Given the description of an element on the screen output the (x, y) to click on. 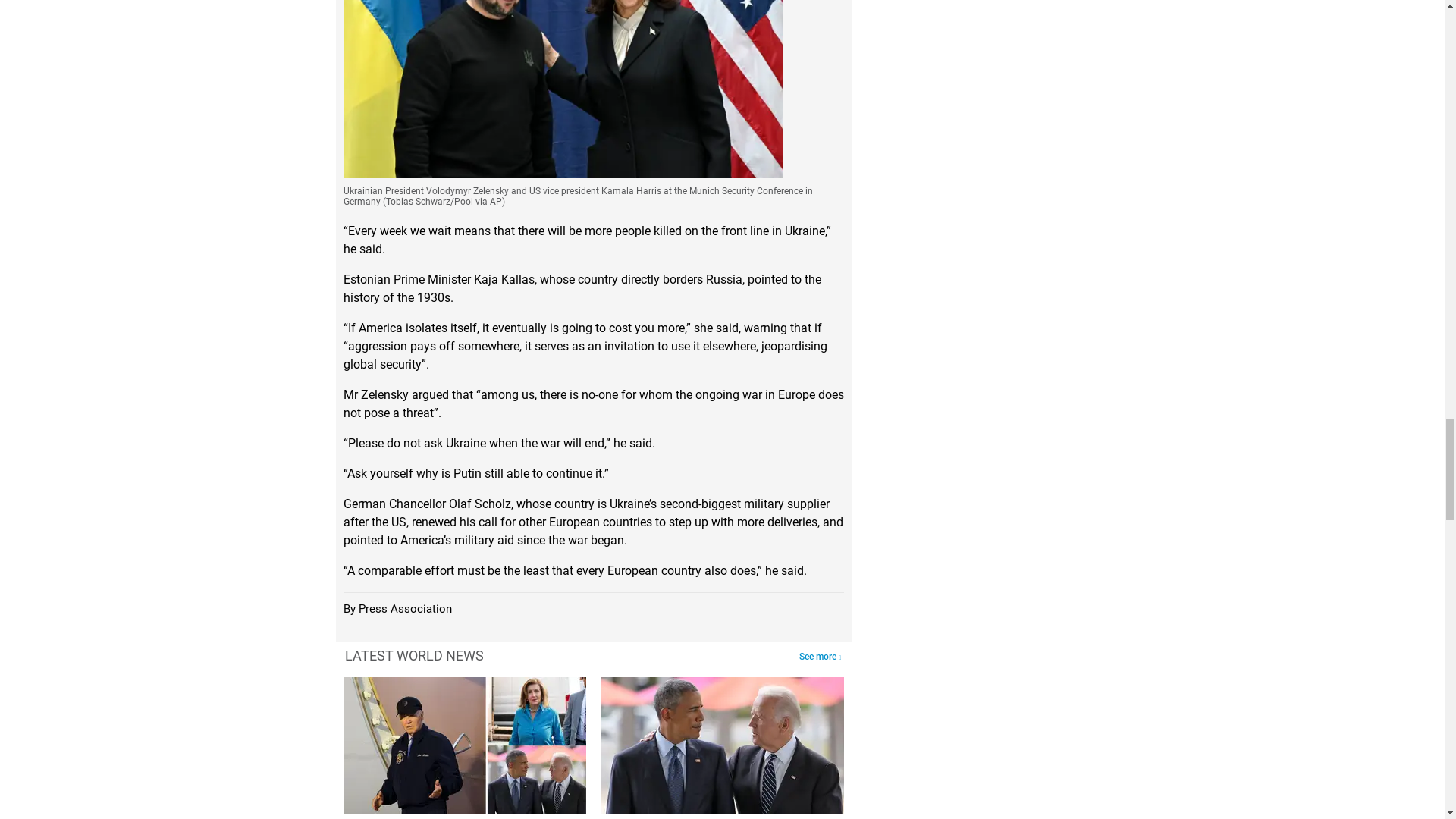
See more (818, 657)
LATEST WORLD NEWS (413, 655)
